Given the description of an element on the screen output the (x, y) to click on. 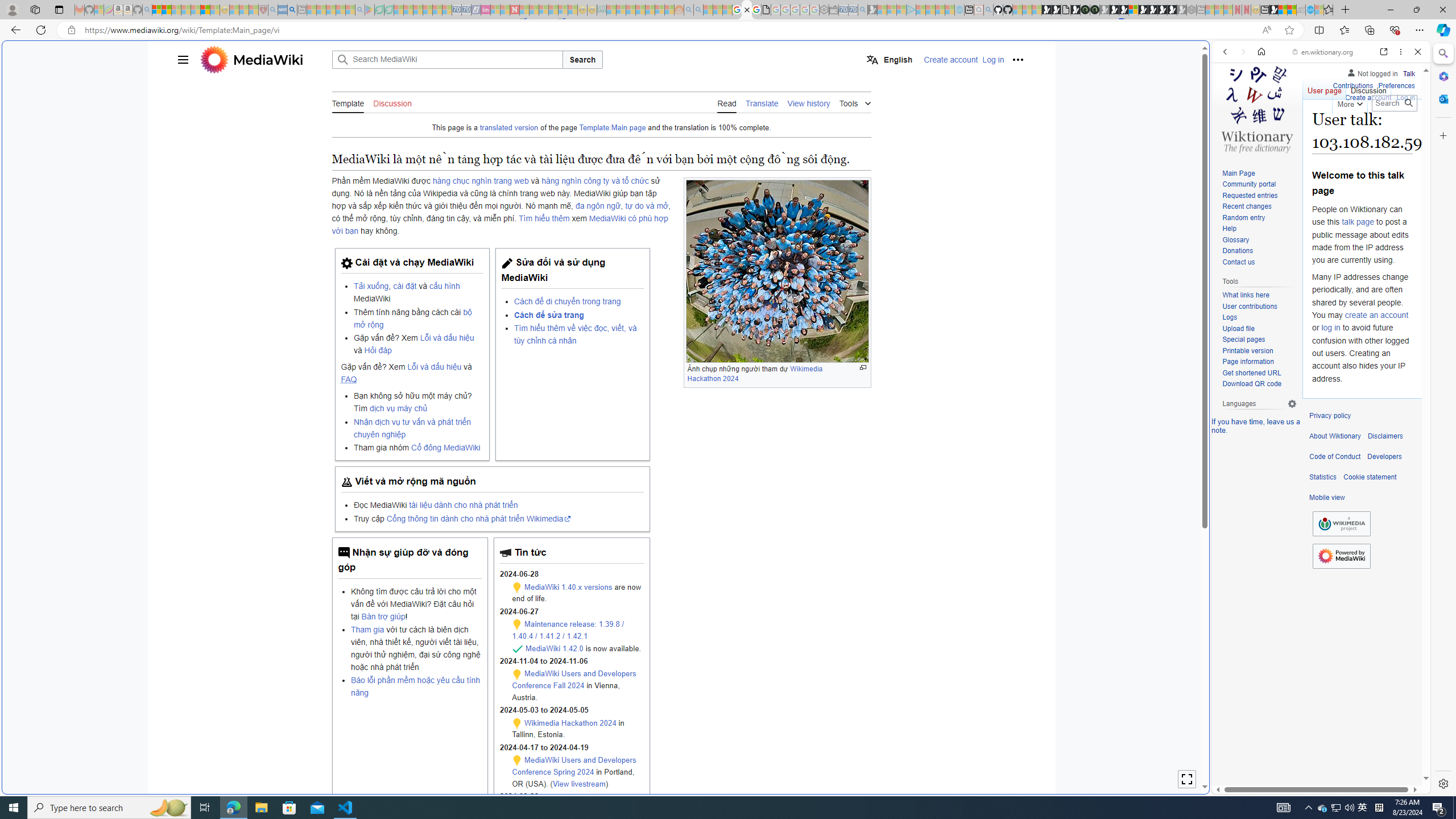
Download QR code (1259, 383)
Log in (1405, 98)
Discussion (1367, 87)
Maintenance update (517, 760)
AutomationID: footer-copyrightico (1341, 523)
MediaWiki Users and Developers Conference Fall 2024 (574, 679)
Printable version (1247, 350)
